Given the description of an element on the screen output the (x, y) to click on. 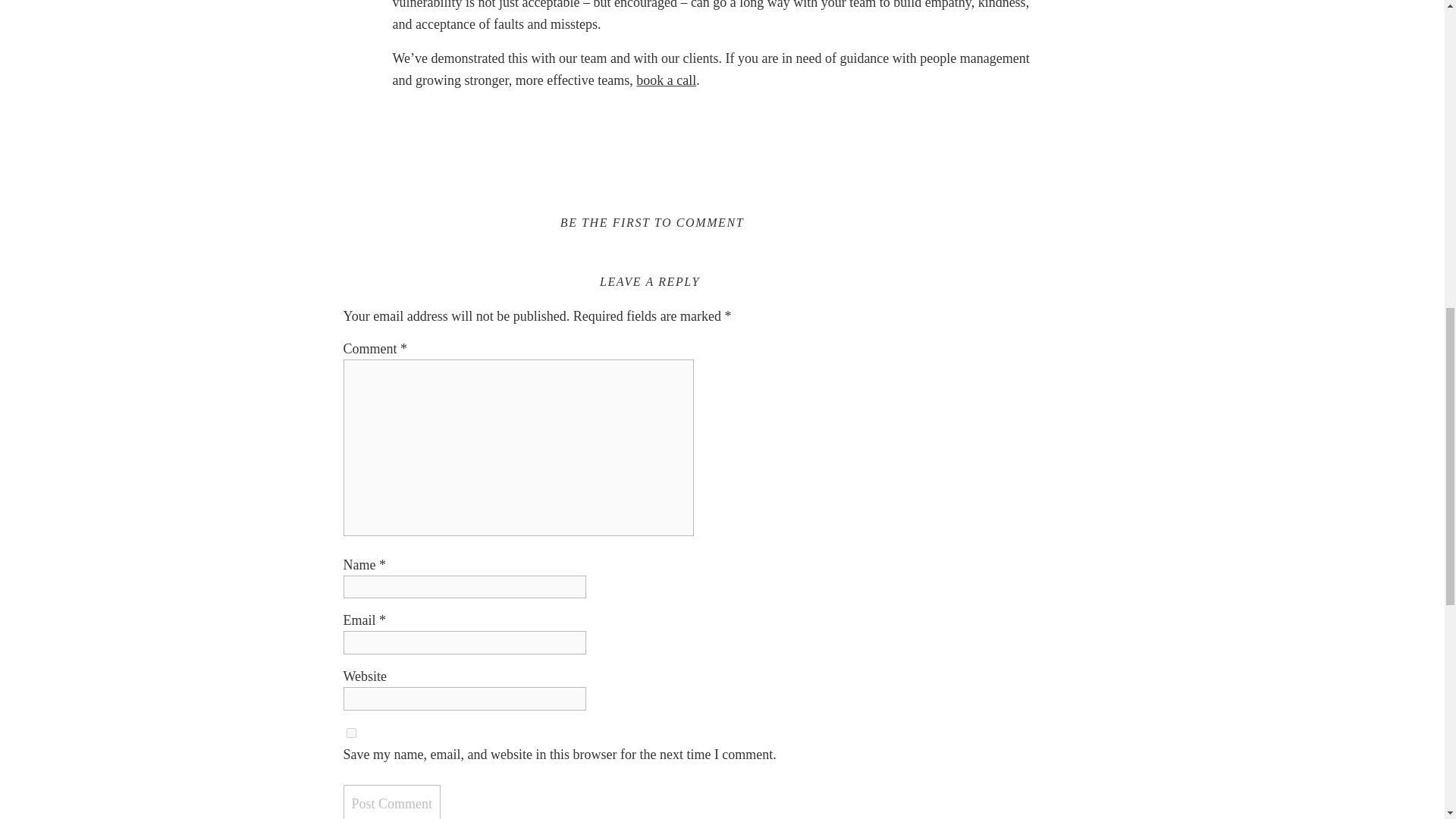
Post Comment (391, 801)
BE THE FIRST TO COMMENT (652, 222)
Post Comment (391, 801)
book a call (665, 79)
yes (350, 732)
